Given the description of an element on the screen output the (x, y) to click on. 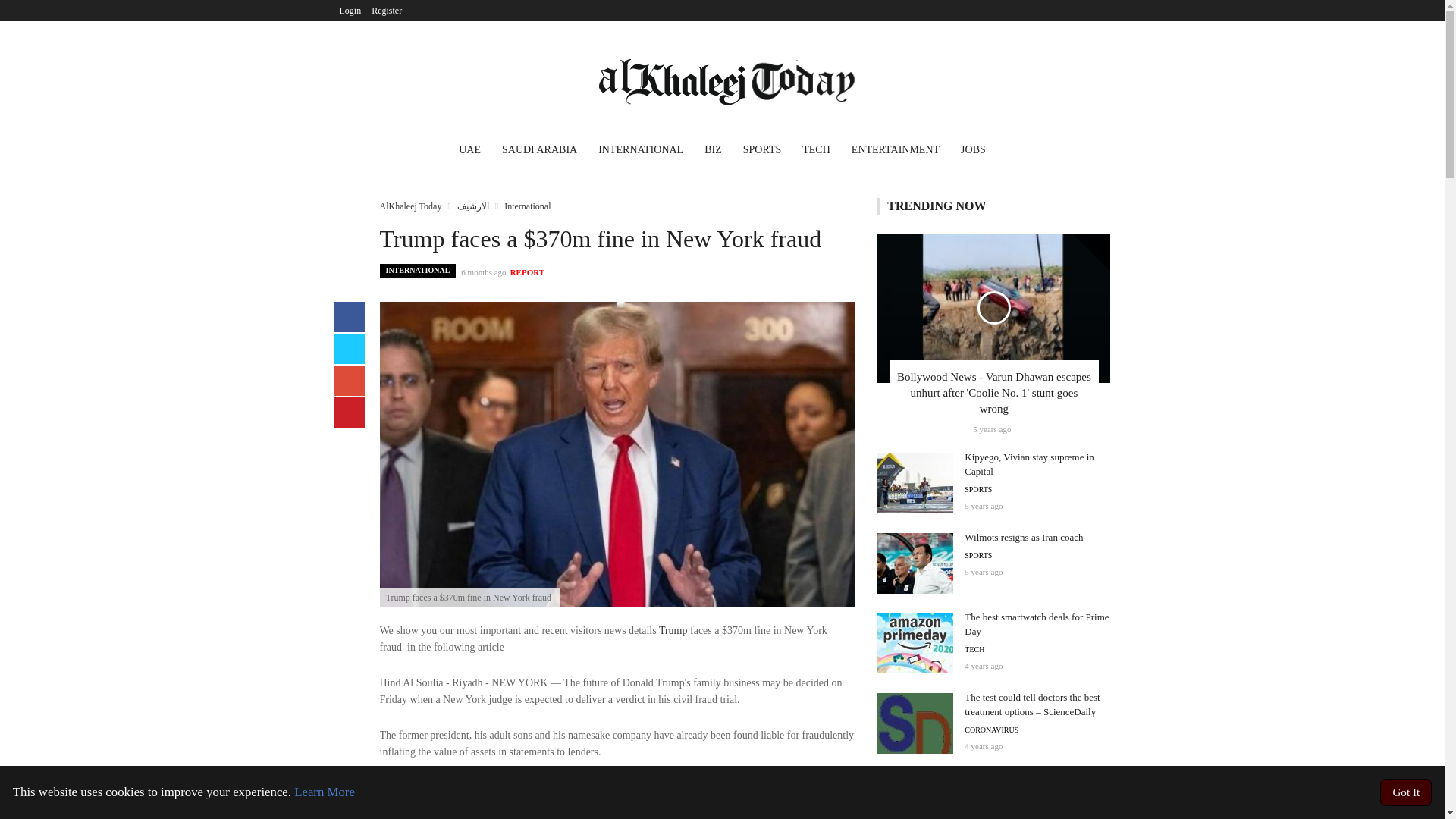
BIZ (713, 151)
Register (386, 10)
UAE (470, 151)
INTERNATIONAL (641, 151)
Friday 06th December 2019 09:21 PM (983, 571)
Wednesday 14th October 2020 11:45 PM (983, 746)
Learn More (324, 791)
International (526, 205)
Login (349, 10)
INTERNATIONAL (416, 270)
Friday 06th December 2019 10:31 AM (991, 429)
AlKhaleej Today (409, 205)
ENTERTAINMENT (895, 151)
SPORTS (762, 151)
Got It (1405, 791)
